Given the description of an element on the screen output the (x, y) to click on. 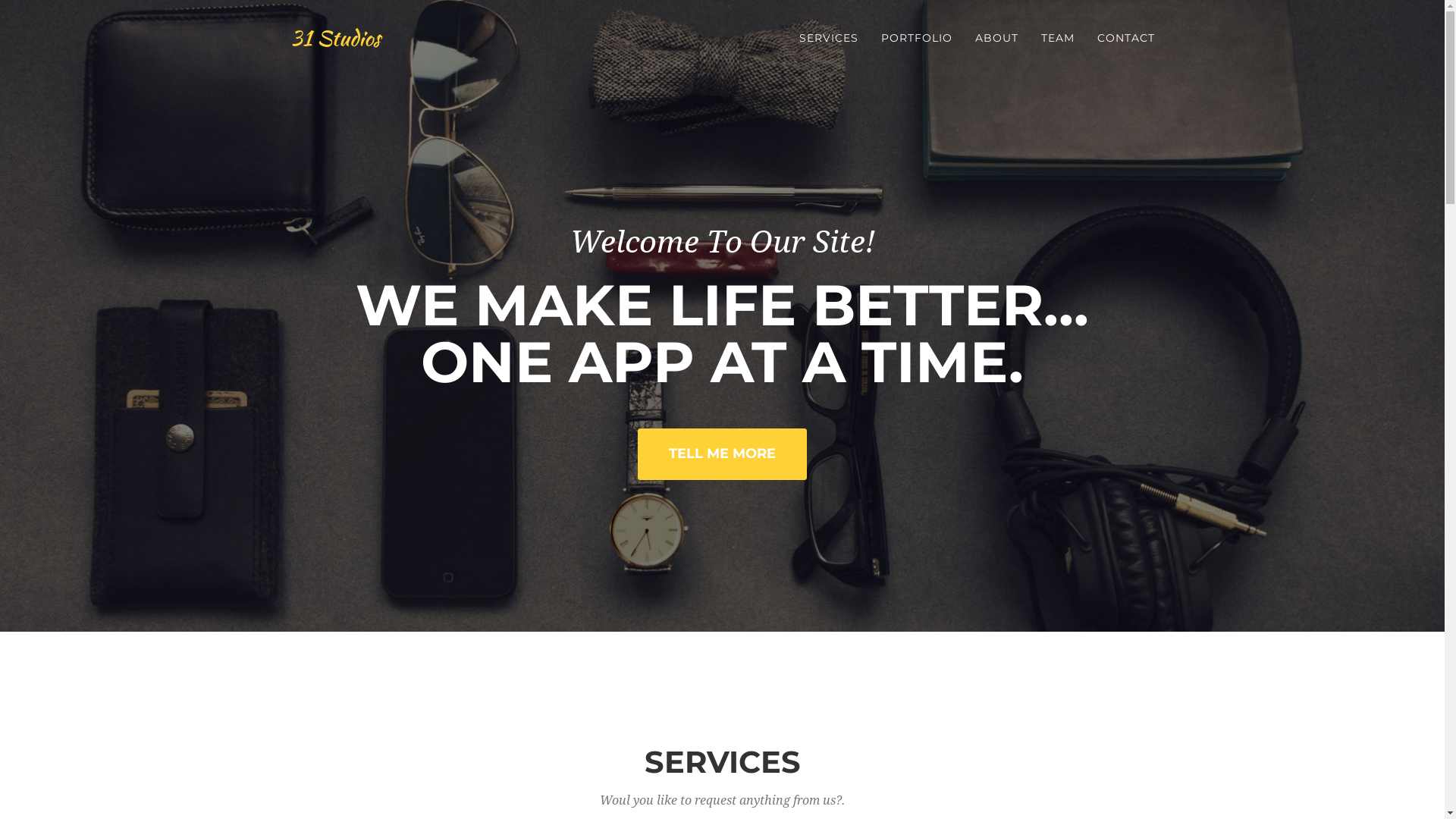
SERVICES Element type: text (828, 37)
TEAM Element type: text (1057, 37)
PORTFOLIO Element type: text (916, 37)
ABOUT Element type: text (996, 37)
31 Studios Element type: text (335, 37)
TELL ME MORE Element type: text (721, 454)
CONTACT Element type: text (1125, 37)
